Given the description of an element on the screen output the (x, y) to click on. 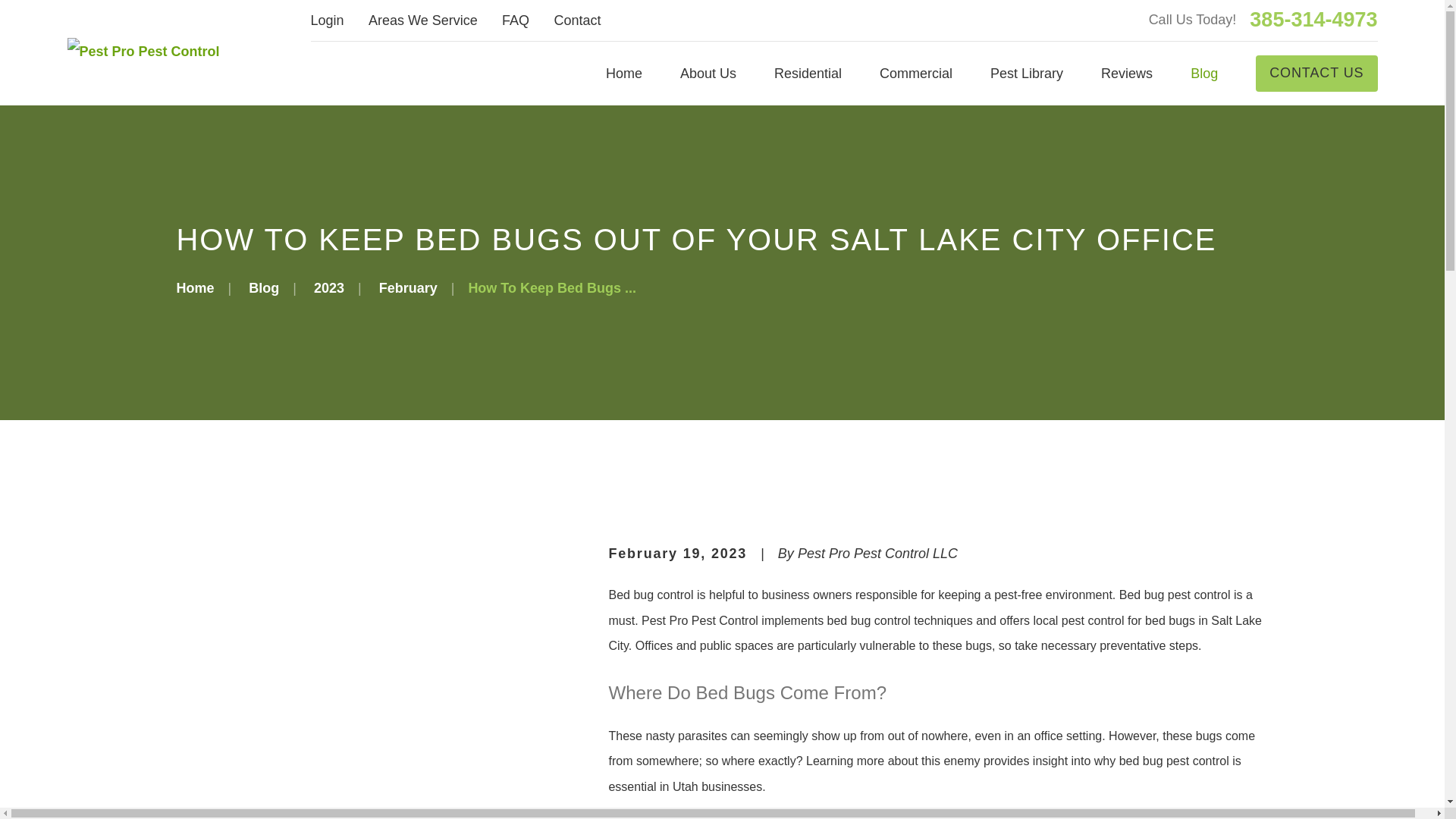
Home (142, 52)
385-314-4973 (1313, 19)
Go Home (195, 287)
FAQ (515, 20)
Contact (576, 20)
Home (623, 73)
Residential (807, 73)
Pest Library (1026, 73)
Reviews (1126, 73)
About Us (707, 73)
